Given the description of an element on the screen output the (x, y) to click on. 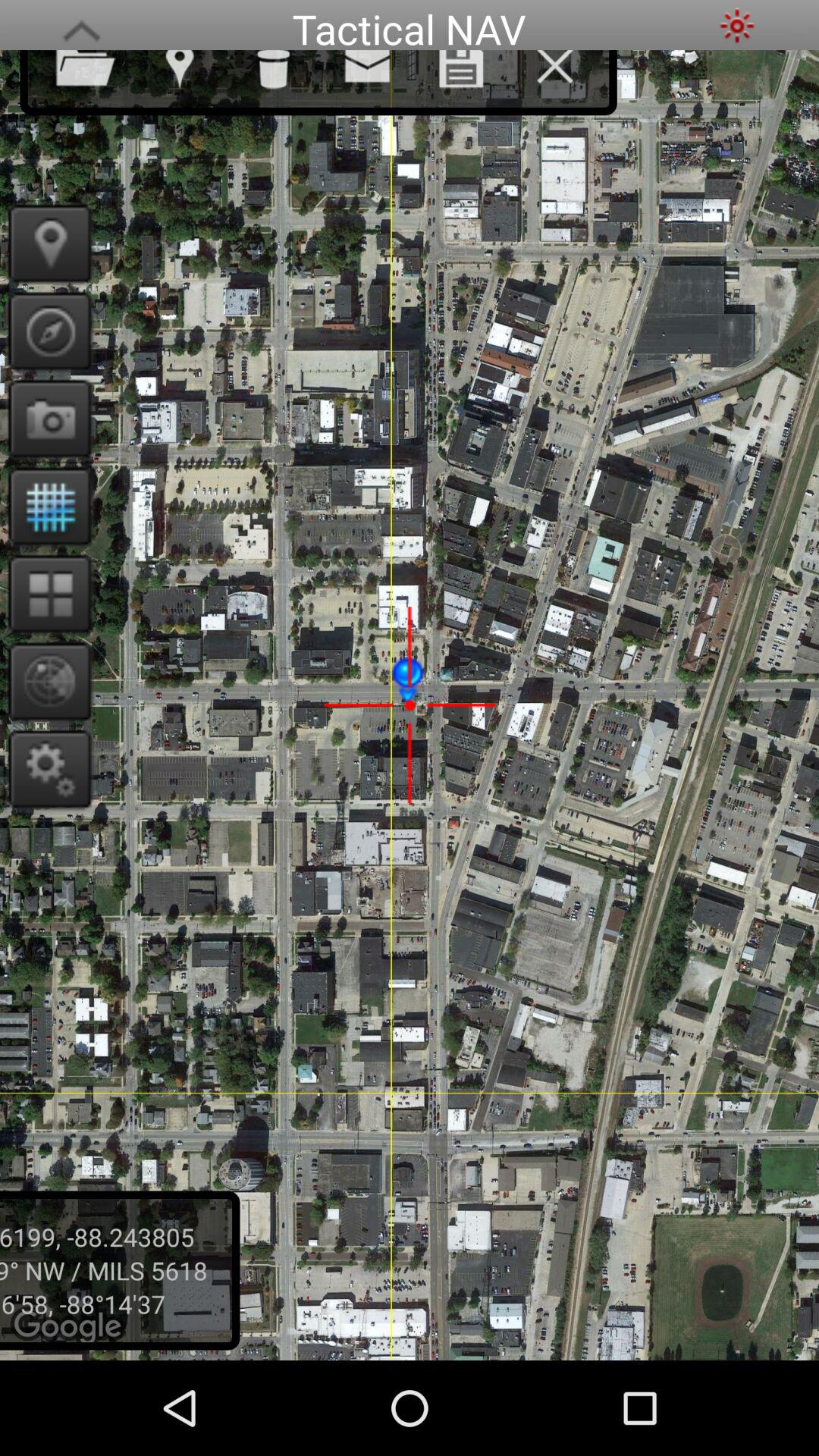
app settings (45, 768)
